Given the description of an element on the screen output the (x, y) to click on. 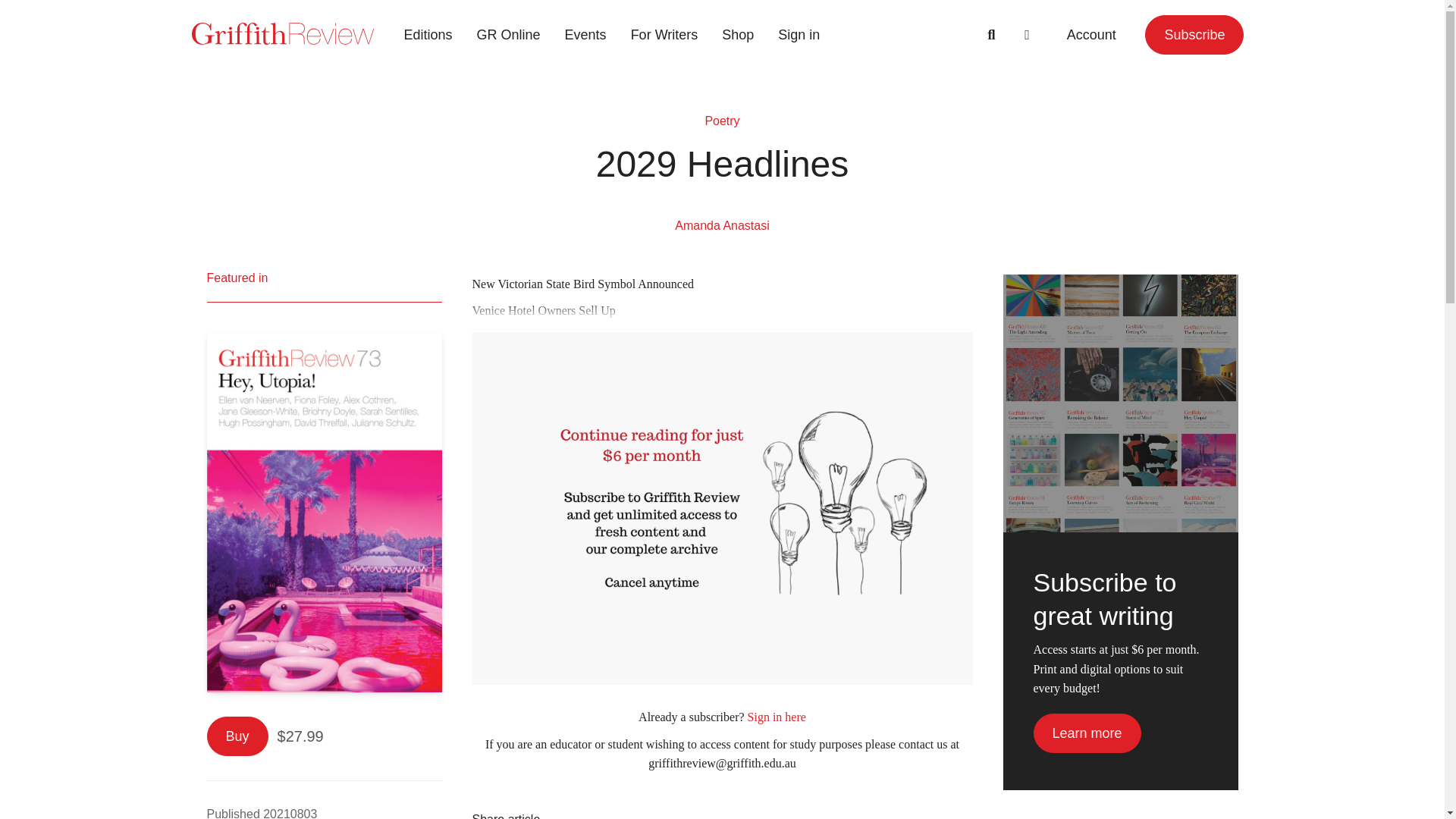
Sign in here (777, 716)
Poetry (721, 120)
Subscribe (1193, 34)
Buy (236, 735)
Account (1090, 34)
Amanda Anastasi (722, 225)
Shop (737, 34)
GR Online (508, 34)
Editions (427, 34)
For Writers (664, 34)
